Given the description of an element on the screen output the (x, y) to click on. 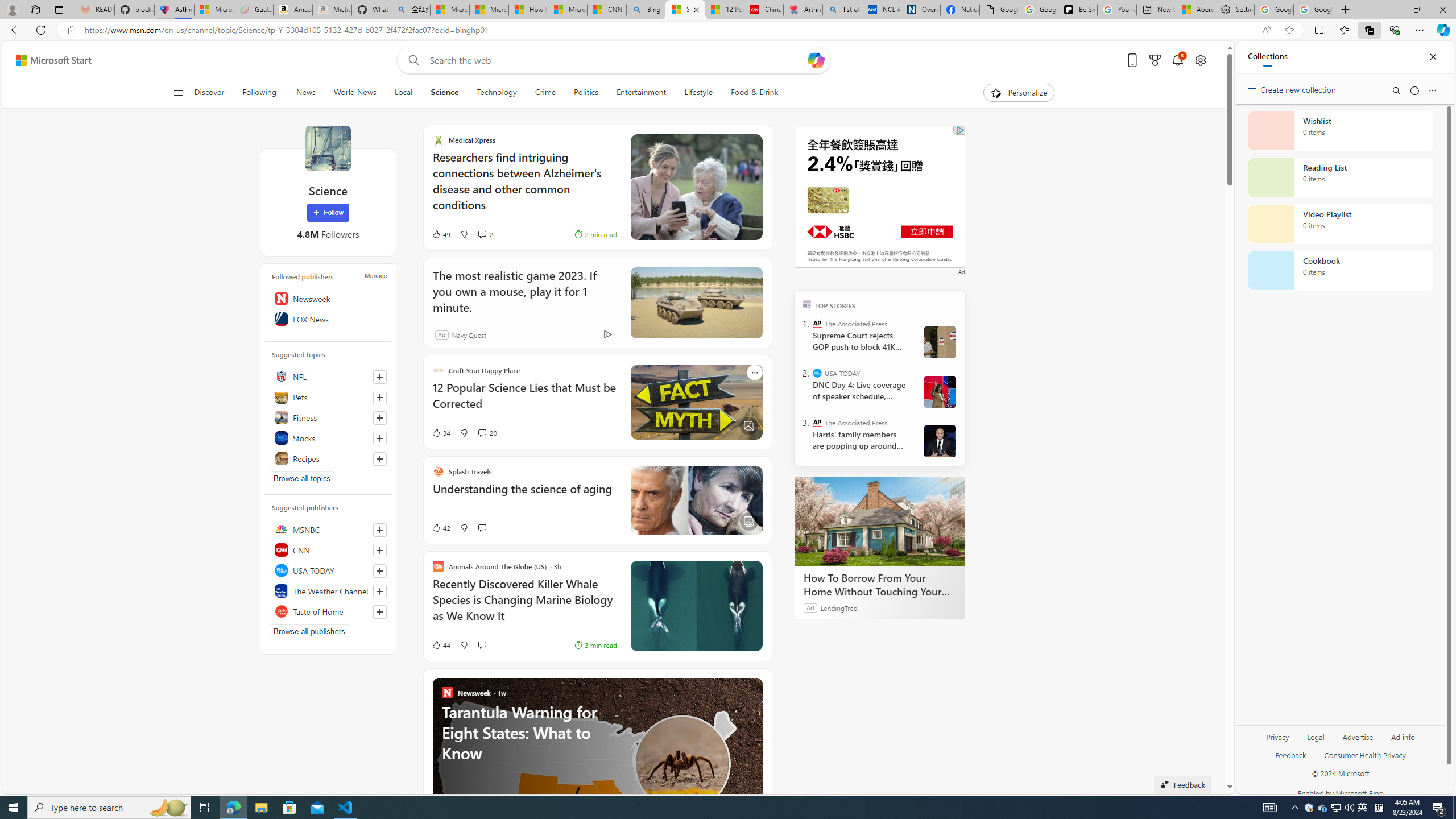
Arthritis: Ask Health Professionals (802, 9)
World News (355, 92)
Science (443, 92)
44 Like (427, 645)
Recipes (327, 458)
Asthma Inhalers: Names and Types (174, 9)
More options menu (1432, 90)
USA TODAY (816, 372)
Wishlist collection, 0 items (1339, 130)
